Given the description of an element on the screen output the (x, y) to click on. 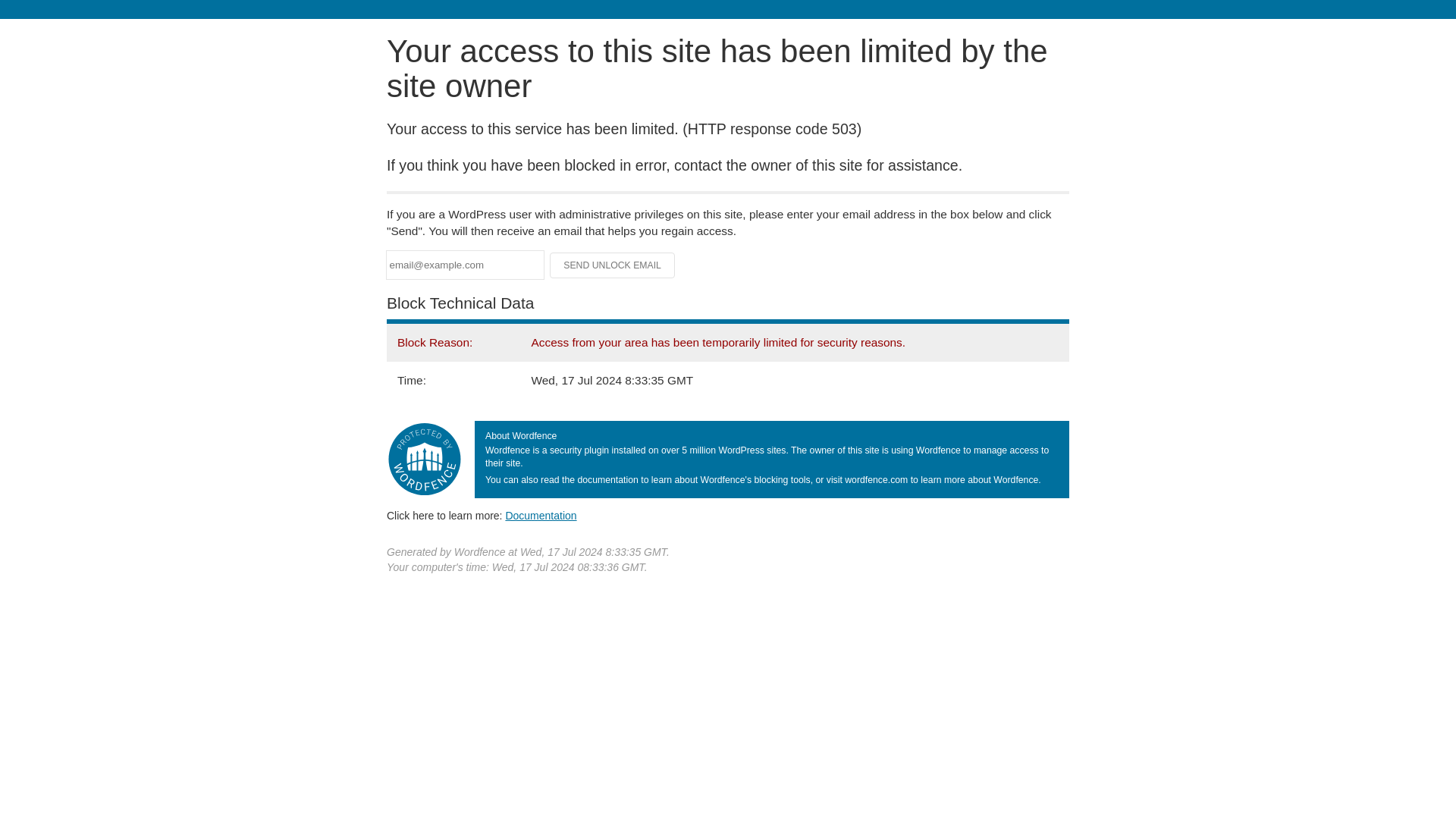
Documentation (540, 515)
Send Unlock Email (612, 265)
Send Unlock Email (612, 265)
